Given the description of an element on the screen output the (x, y) to click on. 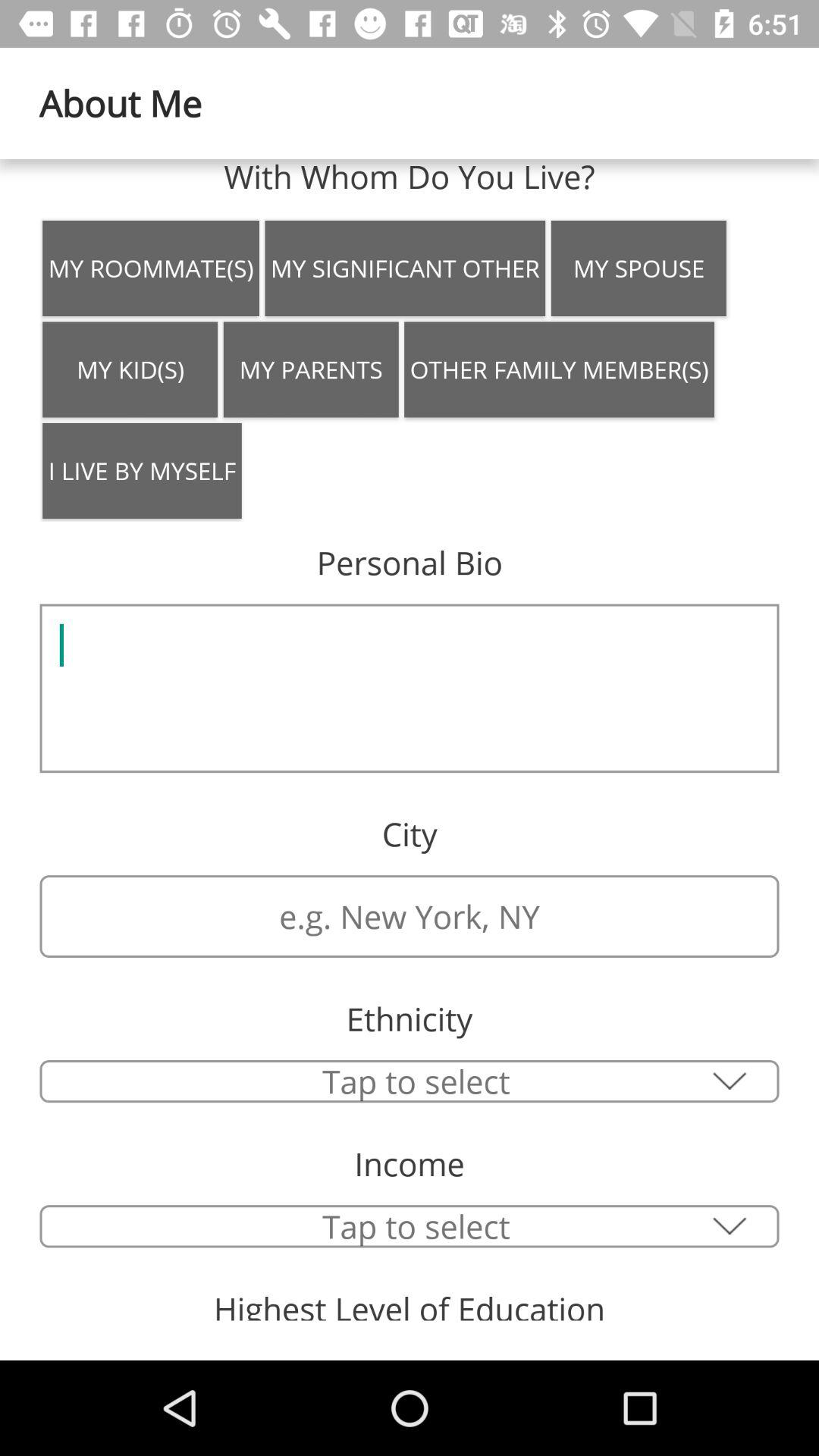
turn on my parents item (310, 369)
